Given the description of an element on the screen output the (x, y) to click on. 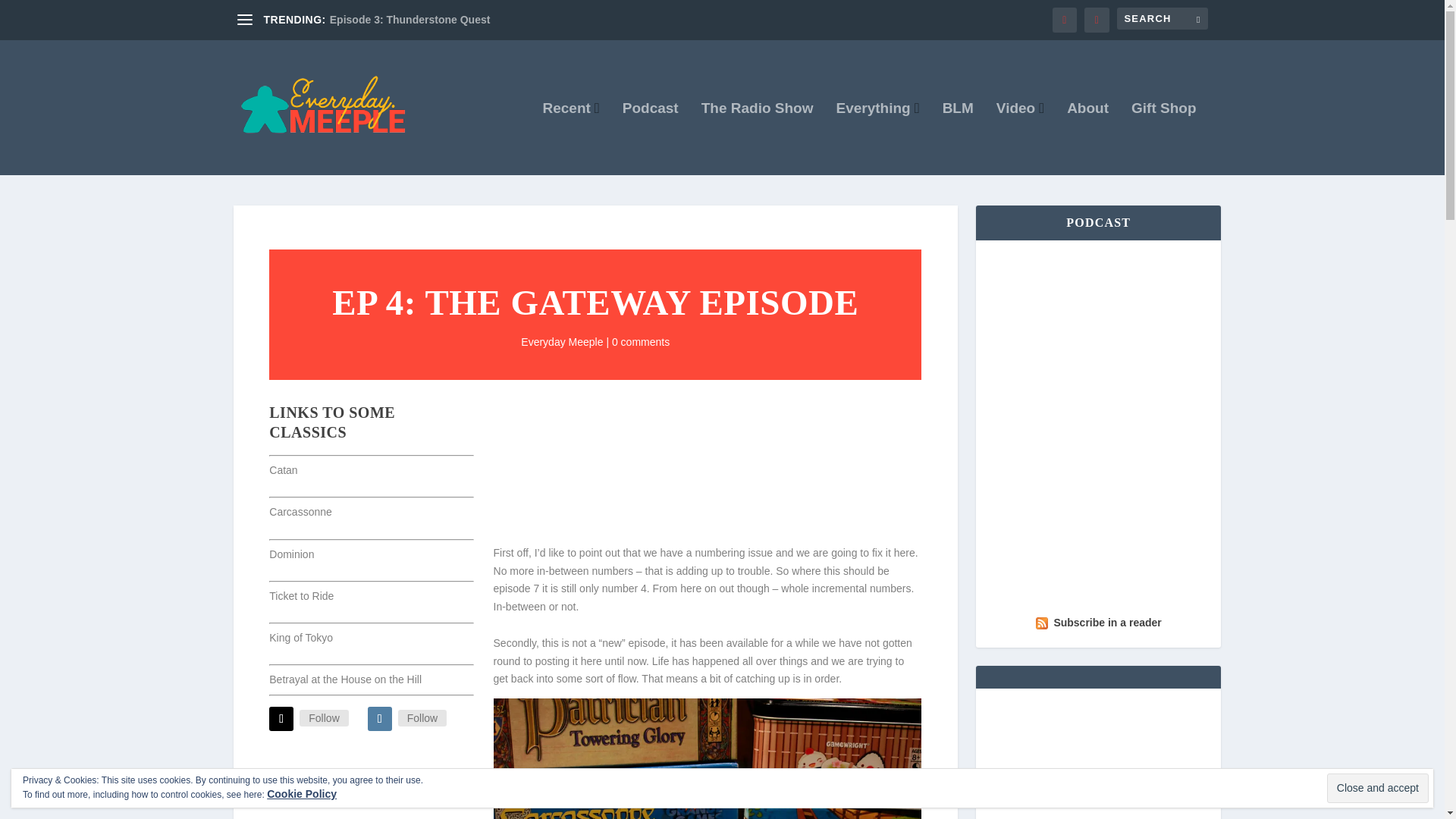
Search for: (1161, 18)
Close and accept (1377, 788)
The Radio Show (757, 138)
Episode 3: Thunderstone Quest (410, 19)
Everything (876, 138)
